Given the description of an element on the screen output the (x, y) to click on. 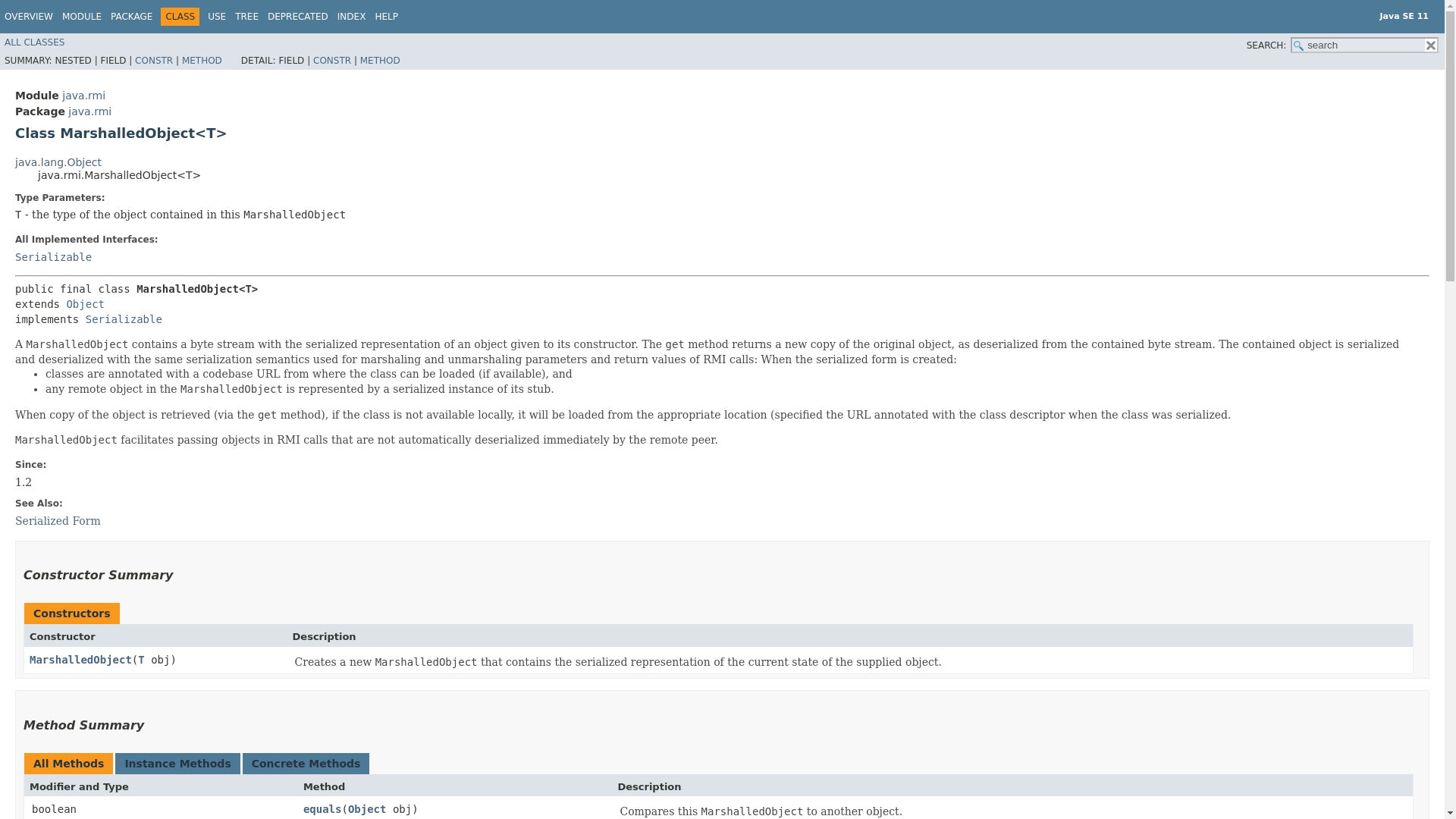
CONSTR (154, 60)
Object (84, 304)
TREE (246, 16)
MarshalledObject (80, 659)
equals (322, 808)
interface in java.io (52, 256)
Serialized Form (57, 521)
Instance Methods (176, 763)
HELP (385, 16)
Serializable (123, 318)
Serializable (52, 256)
java.rmi (83, 95)
MODULE (81, 16)
METHOD (202, 60)
